Given the description of an element on the screen output the (x, y) to click on. 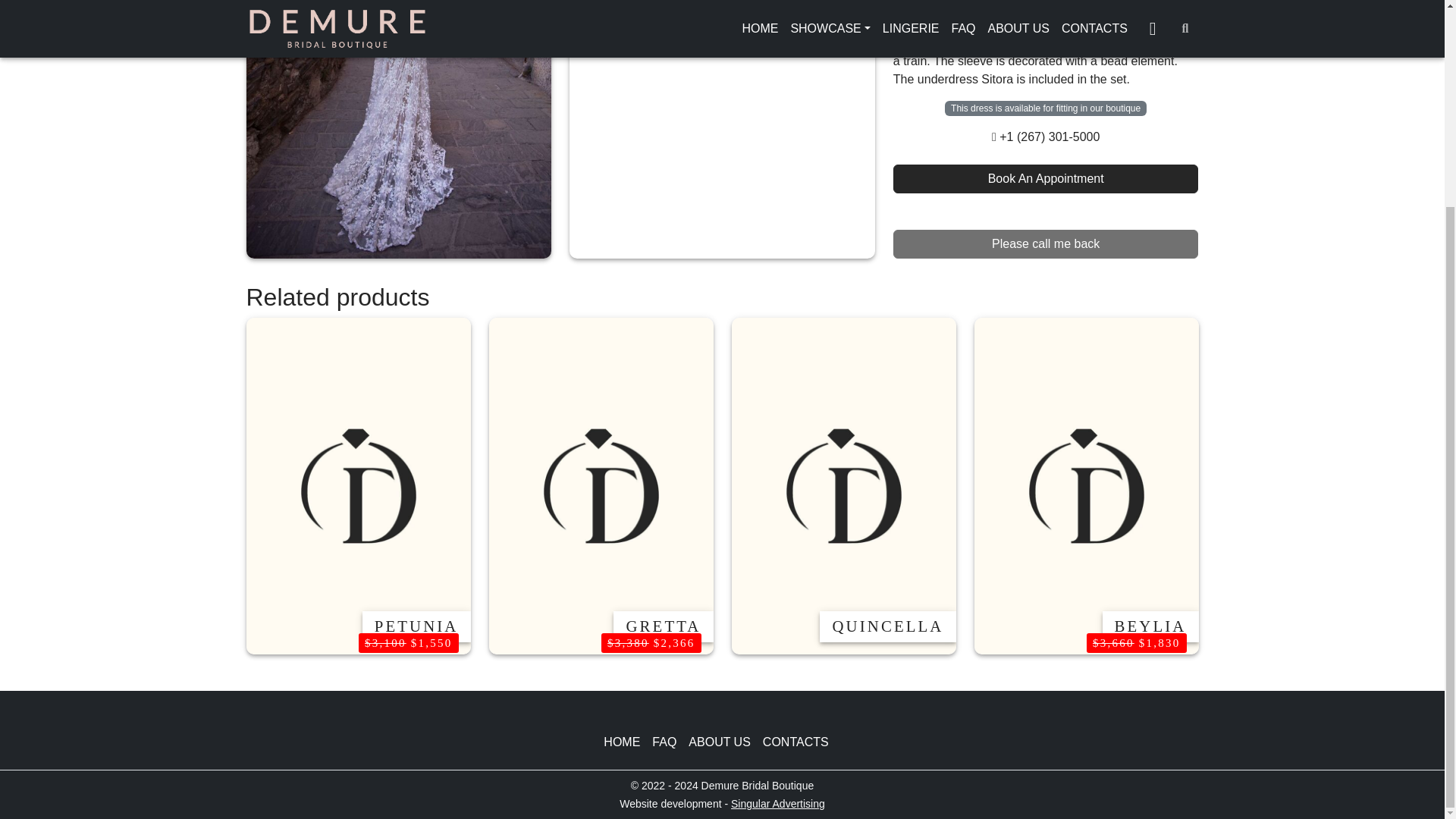
ABOUT US (725, 742)
Please call me back (1045, 222)
FAQ (670, 742)
Book An Appointment (1045, 157)
CONTACTS (801, 742)
Singular Advertising (777, 803)
HOME (628, 742)
